Given the description of an element on the screen output the (x, y) to click on. 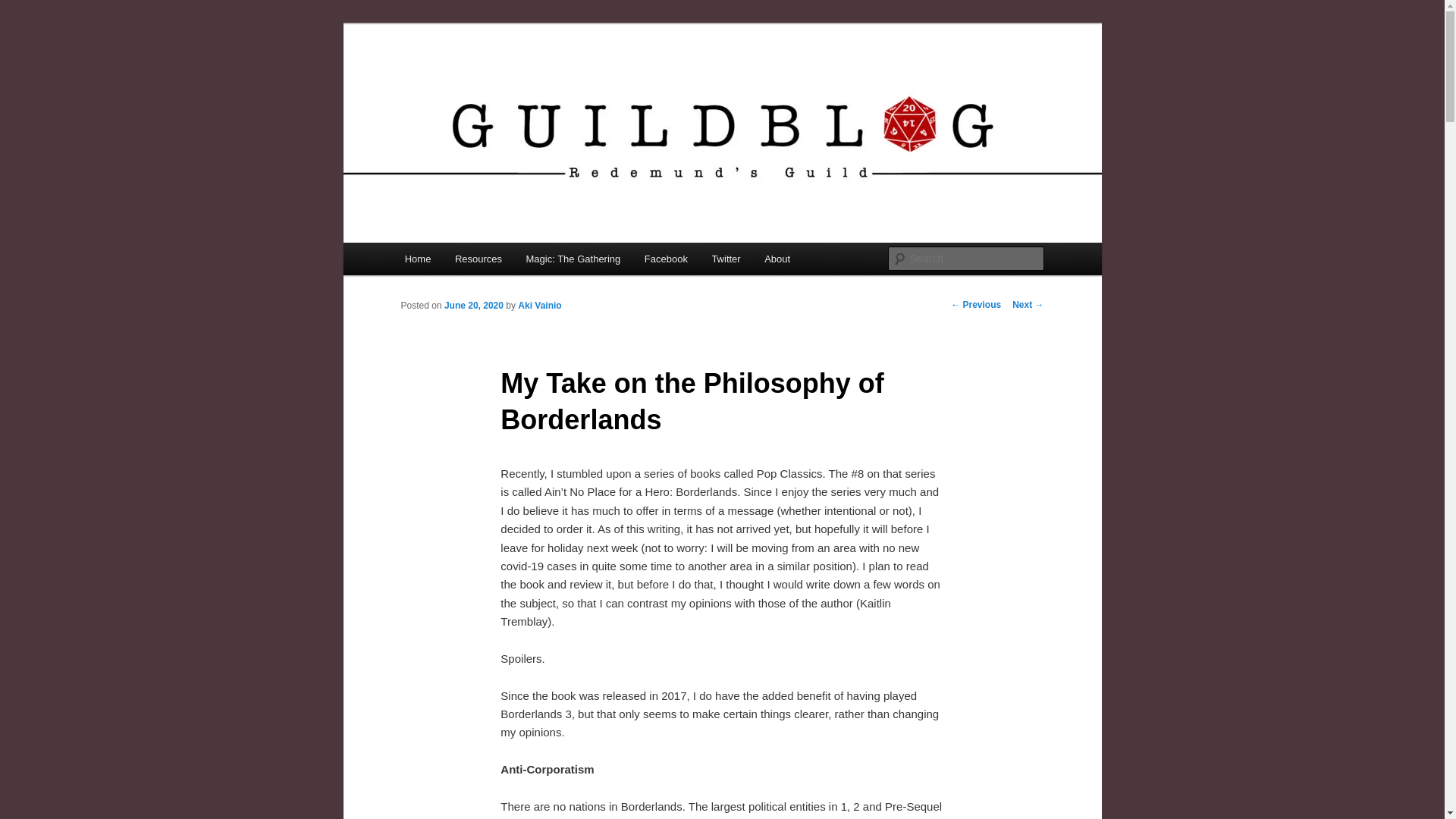
Home (417, 258)
Twitter (726, 258)
Facebook (665, 258)
Aki Vainio (539, 305)
Guild Blog (457, 78)
Search (24, 8)
About (777, 258)
11:57 (473, 305)
Magic: The Gathering (572, 258)
